Given the description of an element on the screen output the (x, y) to click on. 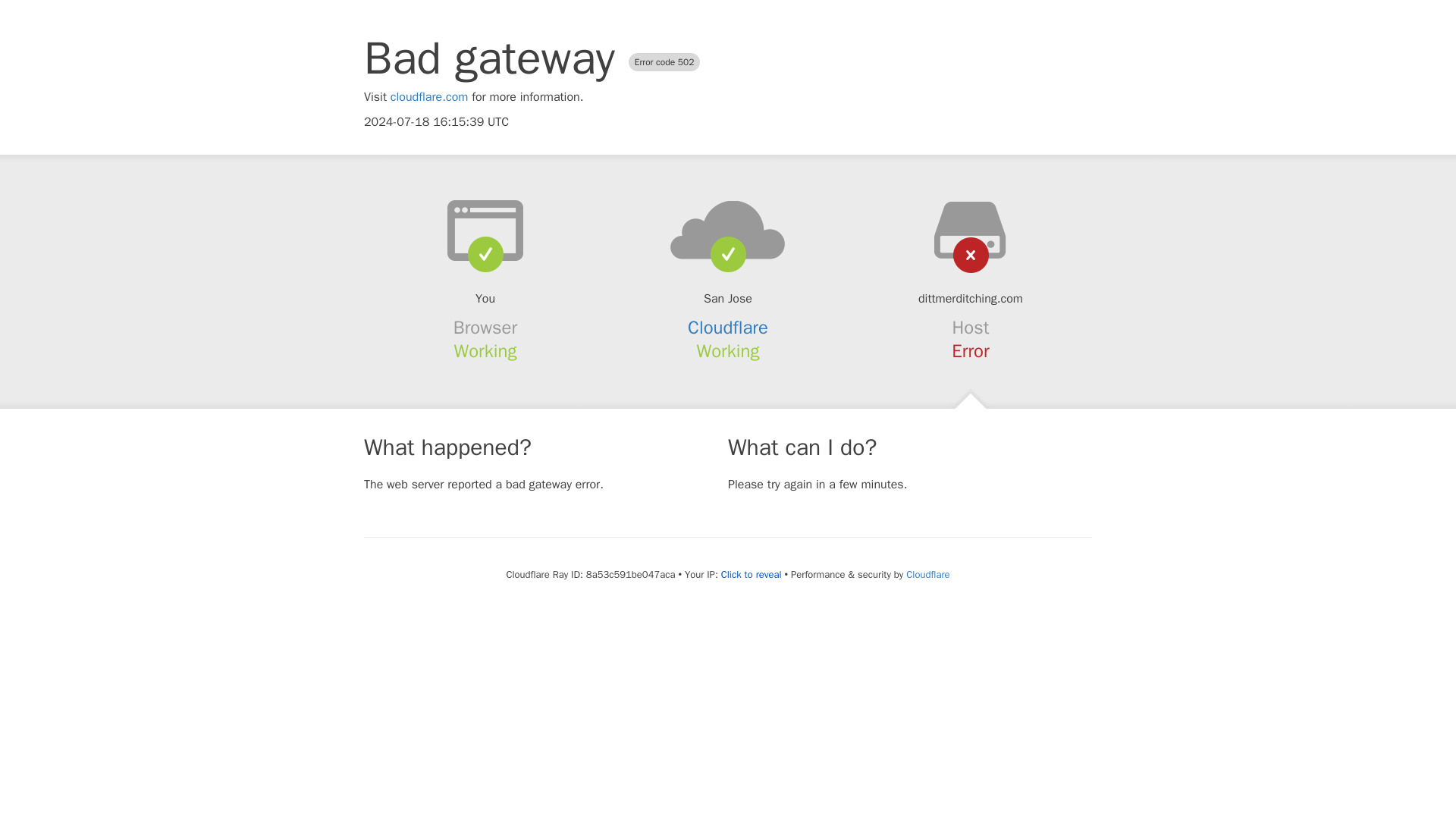
Cloudflare (927, 574)
Click to reveal (750, 574)
cloudflare.com (429, 96)
Cloudflare (727, 327)
